Given the description of an element on the screen output the (x, y) to click on. 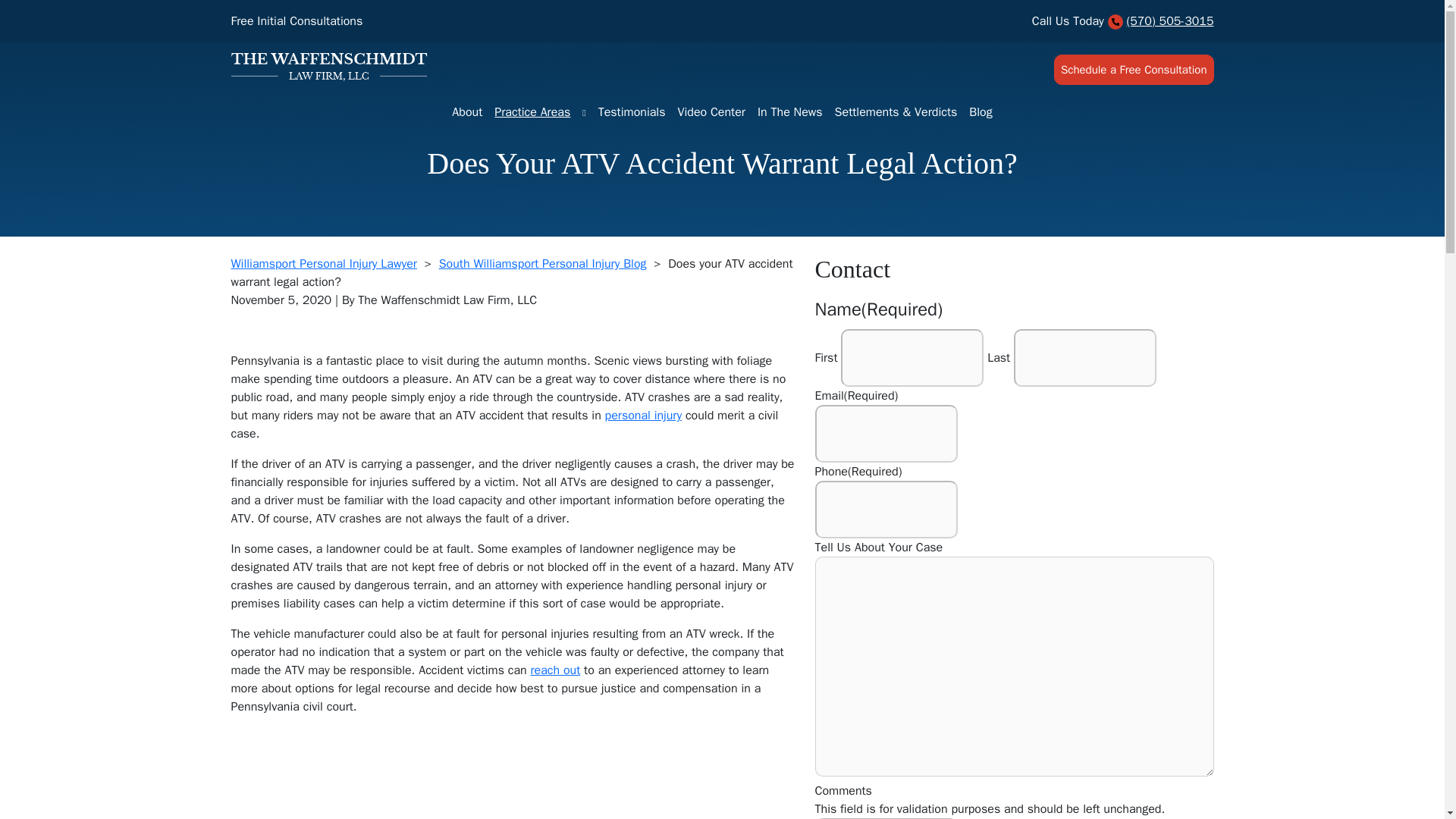
reach out (554, 670)
Practice Areas (531, 112)
Williamsport Personal Injury Lawyer (323, 263)
About (466, 111)
Schedule a Free Consultation (1134, 69)
personal injury (643, 415)
Video Center (711, 111)
Testimonials (631, 111)
About (466, 111)
Testimonials (631, 111)
